Given the description of an element on the screen output the (x, y) to click on. 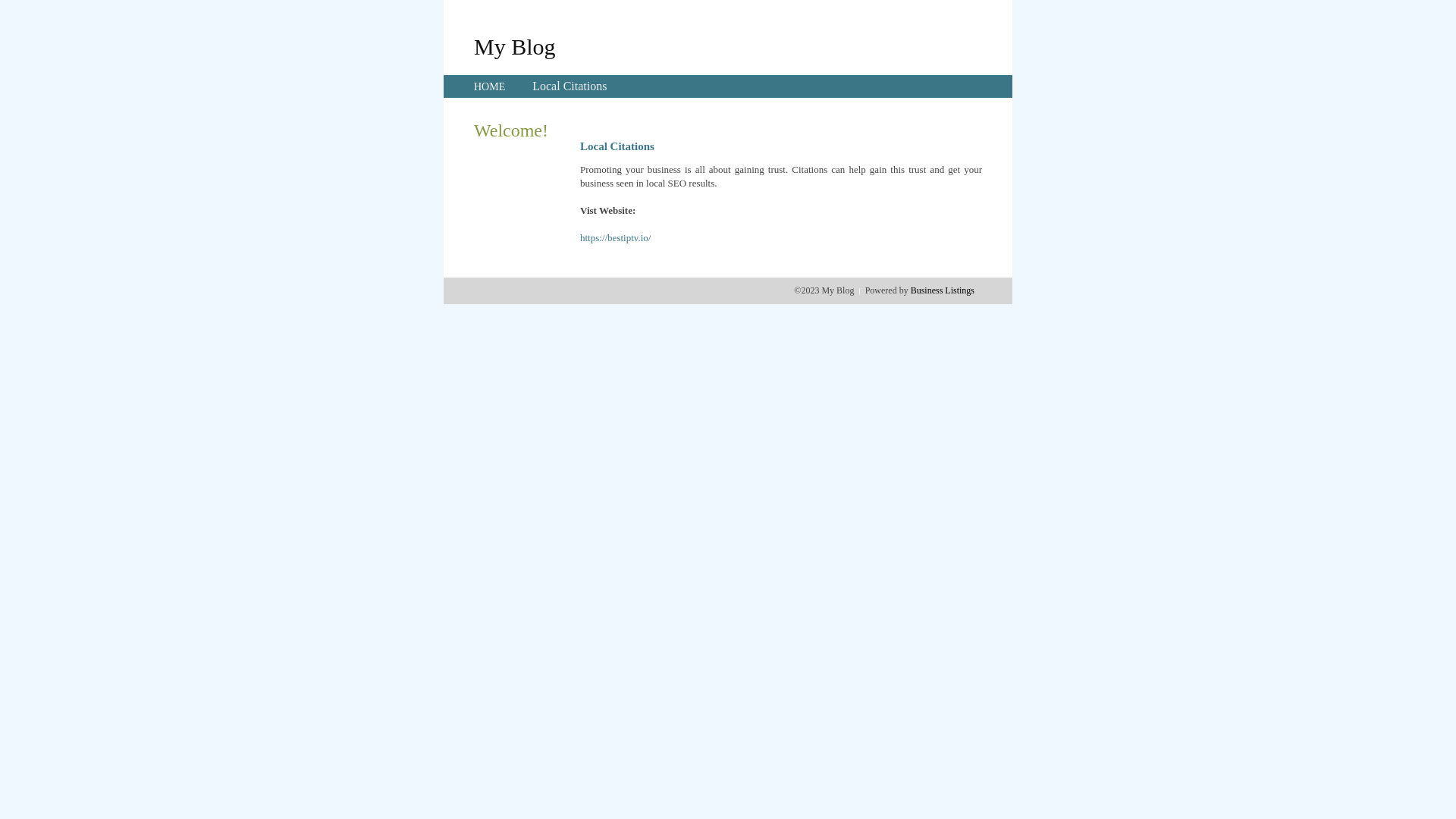
Business Listings Element type: text (942, 290)
https://bestiptv.io/ Element type: text (615, 237)
HOME Element type: text (489, 86)
My Blog Element type: text (514, 46)
Local Citations Element type: text (569, 85)
